Given the description of an element on the screen output the (x, y) to click on. 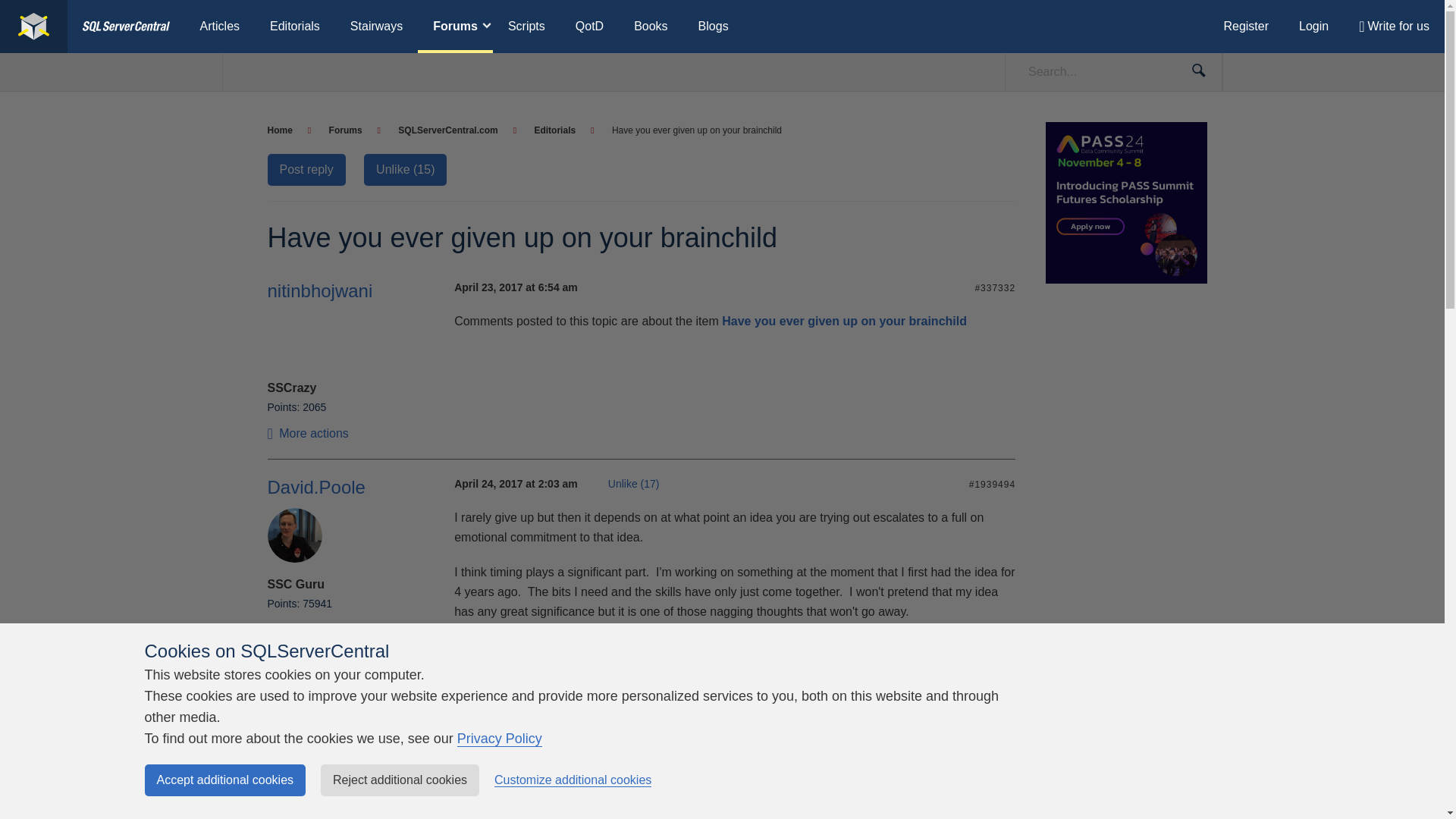
Forums (455, 26)
Blogs (713, 26)
Home (288, 130)
QotD (589, 26)
SQLServerCentral (33, 26)
Scripts (526, 26)
Login (1313, 26)
Books (650, 26)
SQLServerCentral (126, 26)
Forums (354, 130)
Editorials (294, 26)
Register (1246, 26)
Stairways (375, 26)
Articles (219, 26)
